Given the description of an element on the screen output the (x, y) to click on. 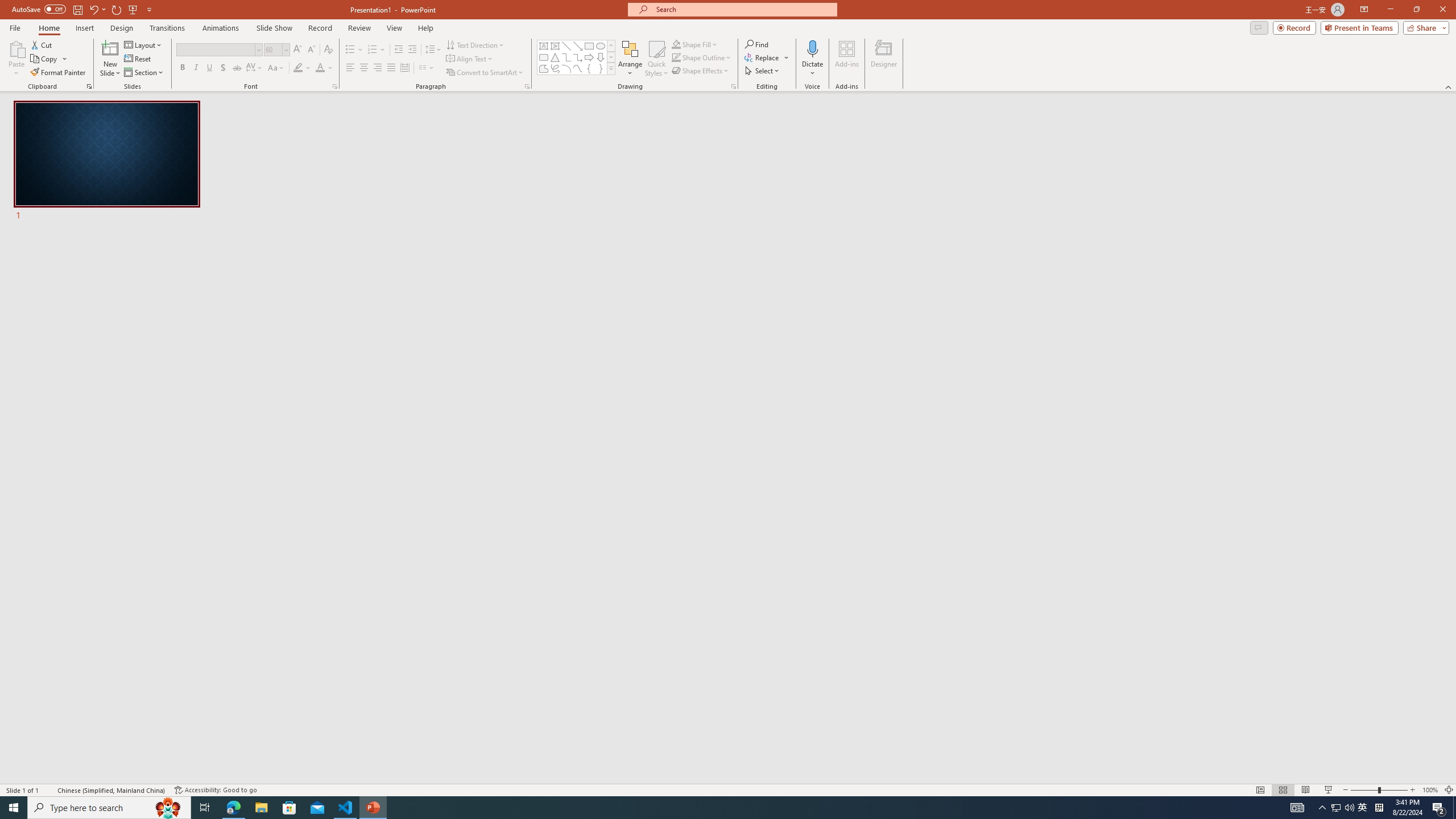
Font... (334, 85)
Format Painter (58, 72)
Animations (220, 28)
Restore Down (1416, 9)
Font Size (273, 49)
Strikethrough (237, 67)
Quick Access Toolbar (82, 9)
From Beginning (133, 9)
Undo (96, 9)
Zoom 100% (1430, 790)
Quick Styles (656, 58)
Numbering (372, 49)
Zoom (1379, 790)
Record (320, 28)
Align Left (349, 67)
